Given the description of an element on the screen output the (x, y) to click on. 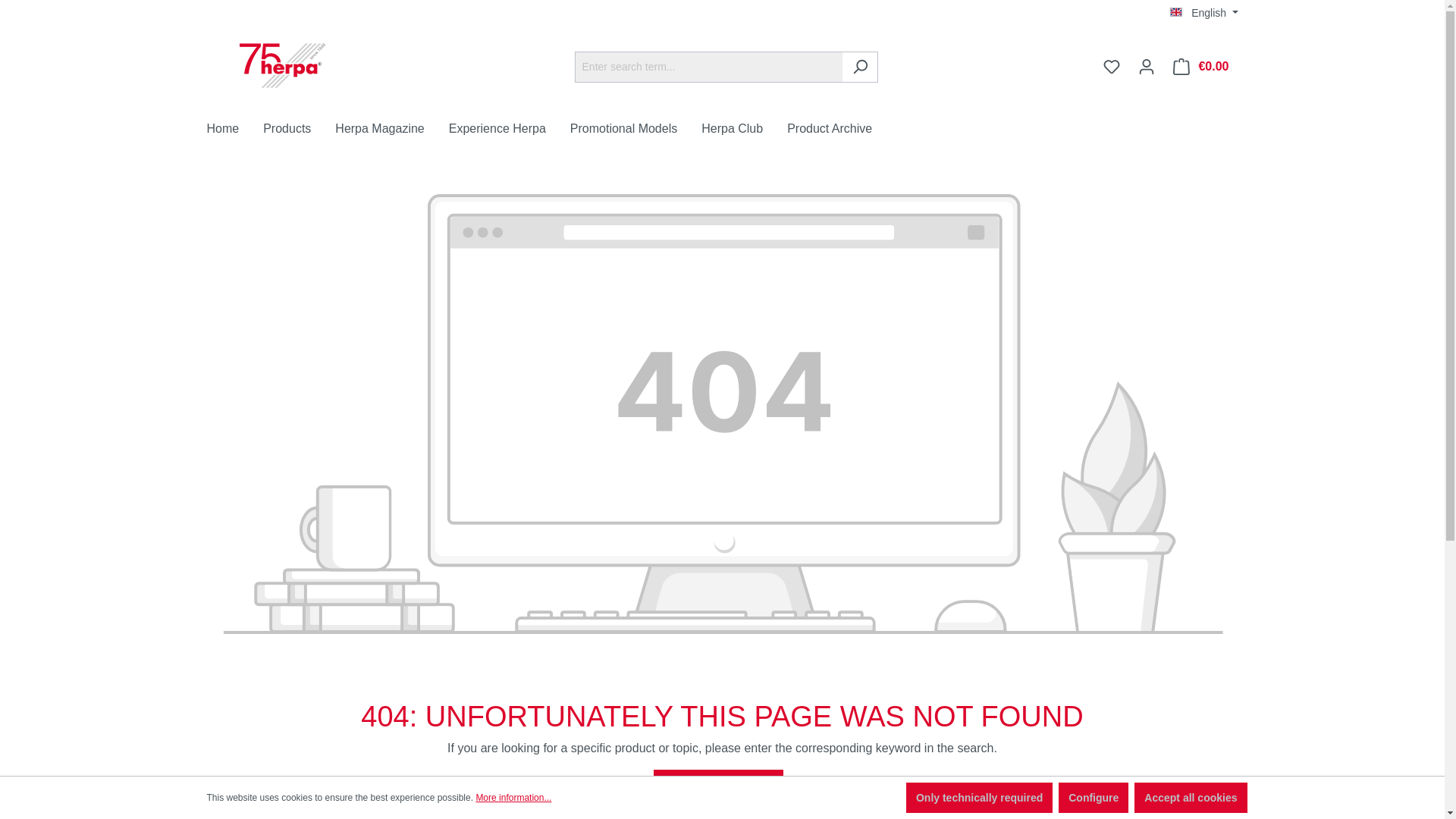
Products (298, 130)
Home (234, 130)
English (1203, 12)
Herpa Club (744, 130)
Herpa Club (744, 130)
Herpa Magazine (391, 130)
Product Archive (841, 130)
Experience Herpa (509, 130)
Products (298, 130)
Herpa Magazine (391, 130)
Your account (1146, 66)
Go to homepage (282, 63)
Shopping cart (1201, 66)
Promotional Models (635, 130)
Wishlist (1111, 66)
